Given the description of an element on the screen output the (x, y) to click on. 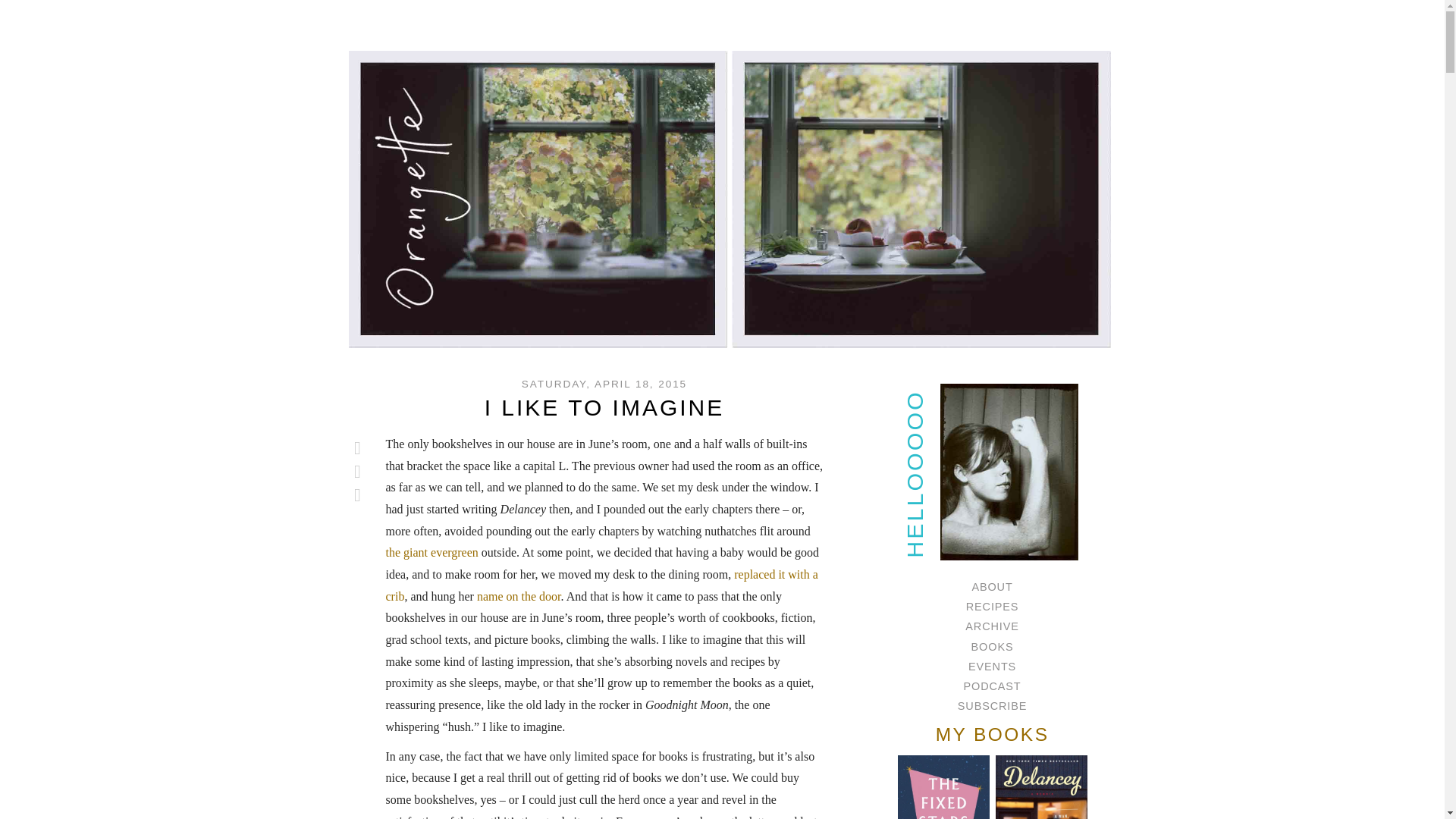
I LIKE TO IMAGINE (604, 407)
replaced it with a crib (600, 585)
name on the door (518, 595)
the giant evergreen (431, 552)
Twitter (357, 447)
Pinterest (357, 495)
Facebook (357, 471)
